Given the description of an element on the screen output the (x, y) to click on. 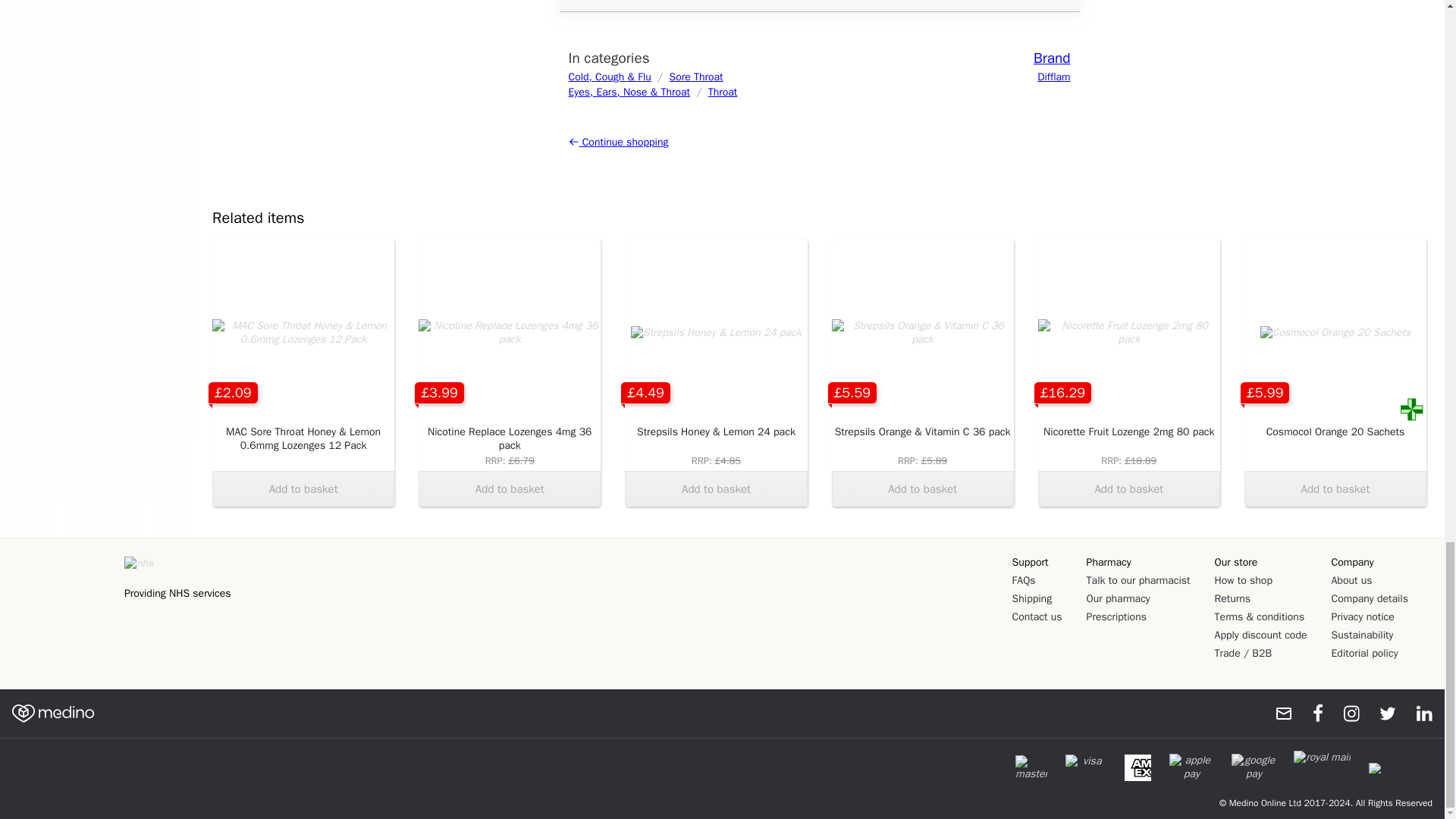
medino on linkedIn (1417, 713)
medino on instagram (1344, 713)
medino on twitter (1380, 713)
medino on facebook (1307, 713)
Subscribe to our newsletter (1277, 713)
Reviews Badge Widget (64, 603)
home (52, 713)
